Given the description of an element on the screen output the (x, y) to click on. 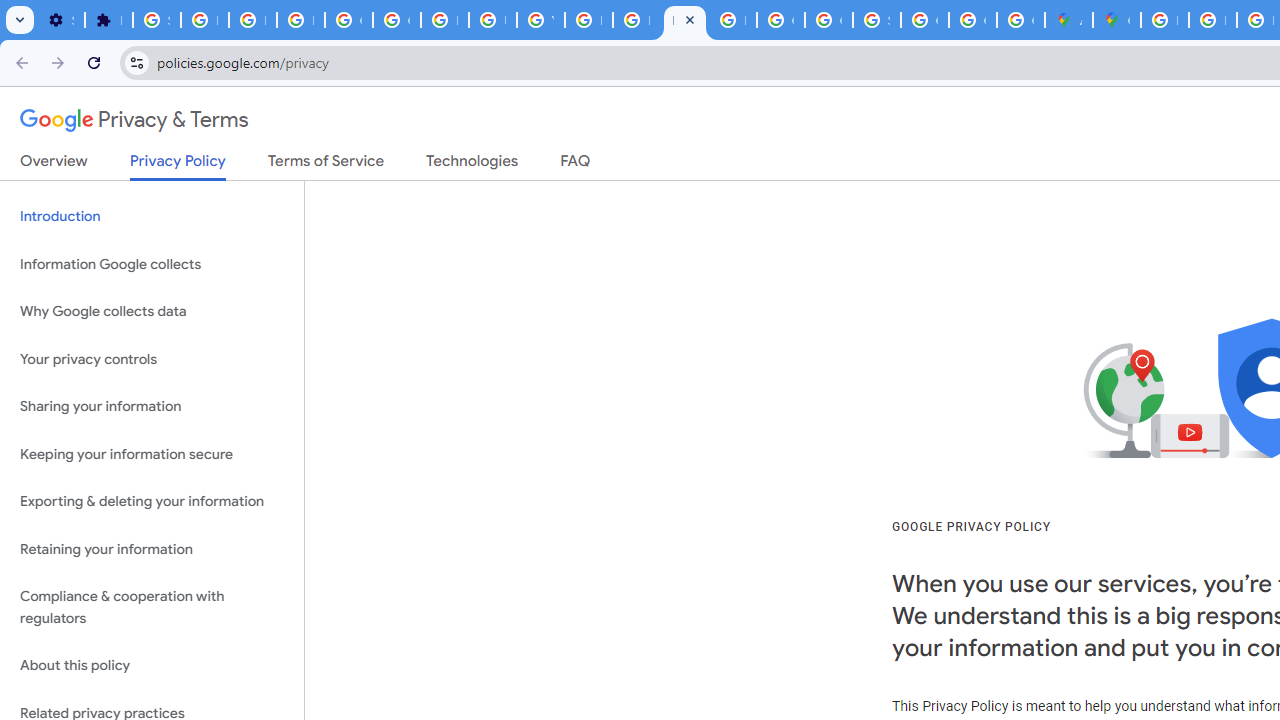
About this policy (152, 666)
Policy Accountability and Transparency - Transparency Center (1164, 20)
Google Maps (1116, 20)
Compliance & cooperation with regulators (152, 607)
Your privacy controls (152, 358)
Sign in - Google Accounts (876, 20)
Sign in - Google Accounts (156, 20)
Delete photos & videos - Computer - Google Photos Help (204, 20)
